Given the description of an element on the screen output the (x, y) to click on. 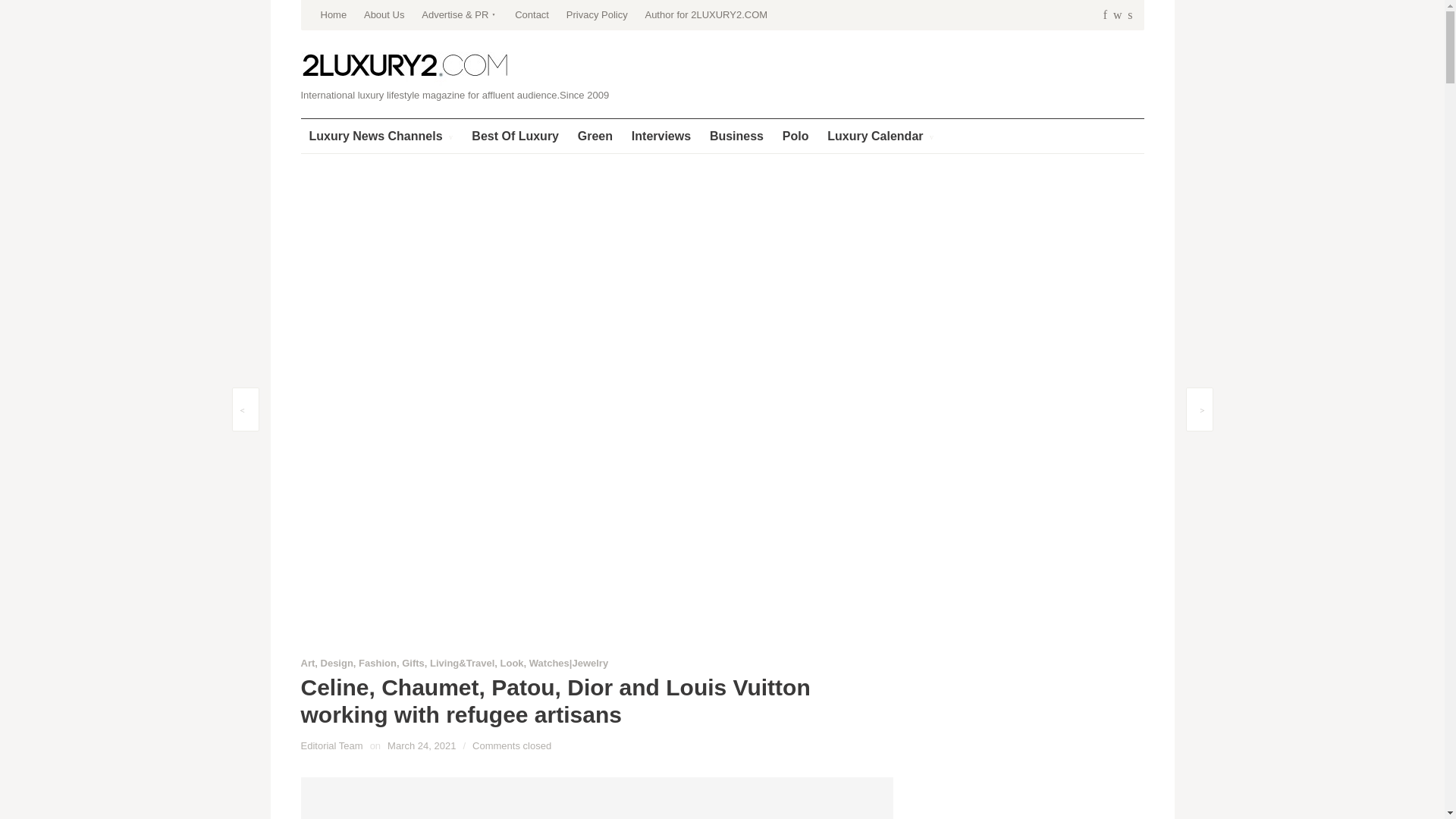
Skip to content (336, 4)
Contact (531, 15)
Business (736, 135)
Green luxury (595, 135)
Privacy Policy (596, 15)
Luxury Advertising and PR (459, 15)
Green (595, 135)
Polo (795, 135)
2LUXURY2.COM (405, 65)
luxury interviews (660, 135)
